Given the description of an element on the screen output the (x, y) to click on. 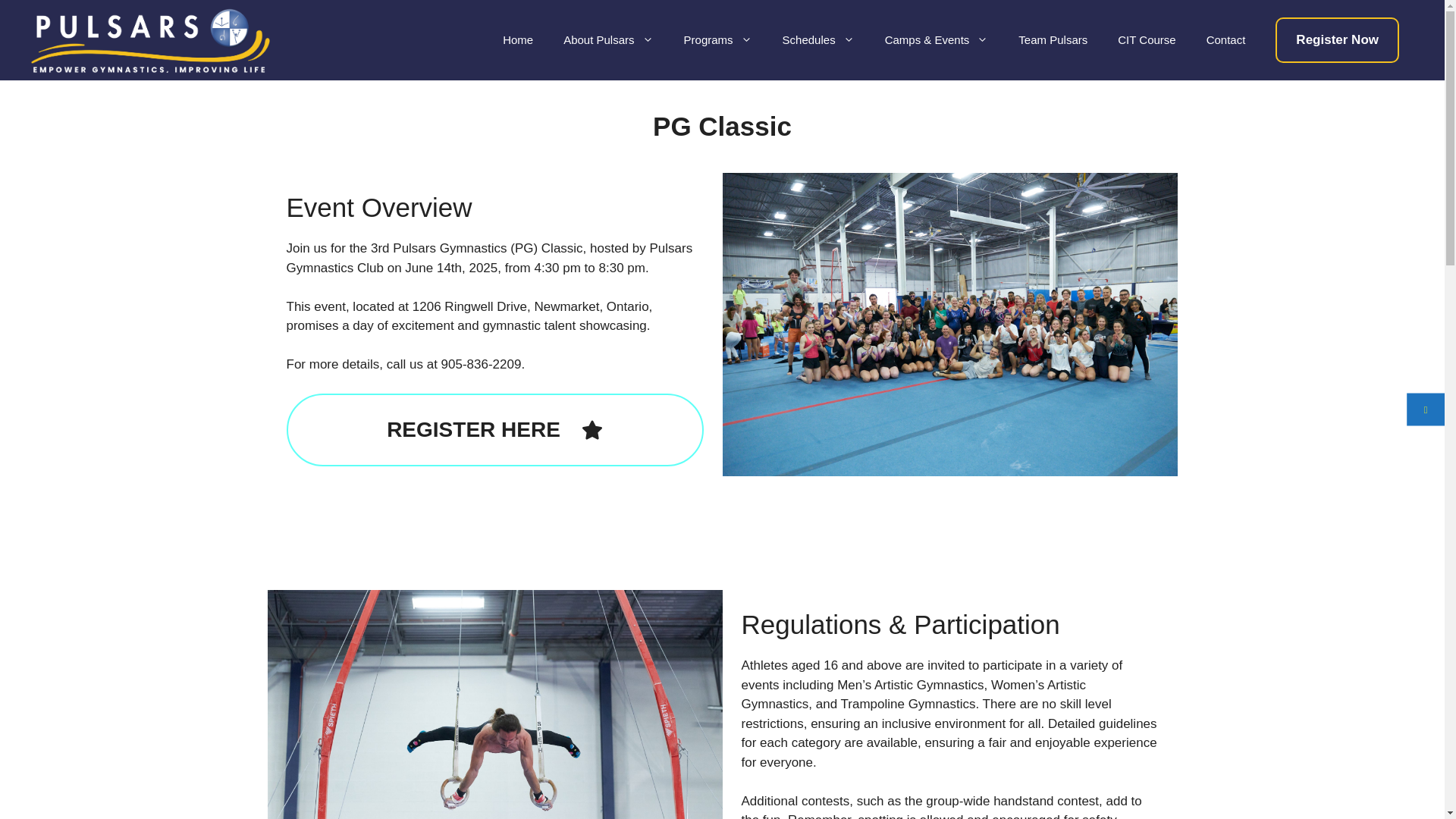
Contact (1225, 40)
1E0A7854 (494, 704)
About Pulsars (608, 40)
CIT Course (1146, 40)
Schedules (818, 40)
Home (517, 40)
Register Now (1337, 40)
Programs (717, 40)
Team Pulsars (1052, 40)
